Given the description of an element on the screen output the (x, y) to click on. 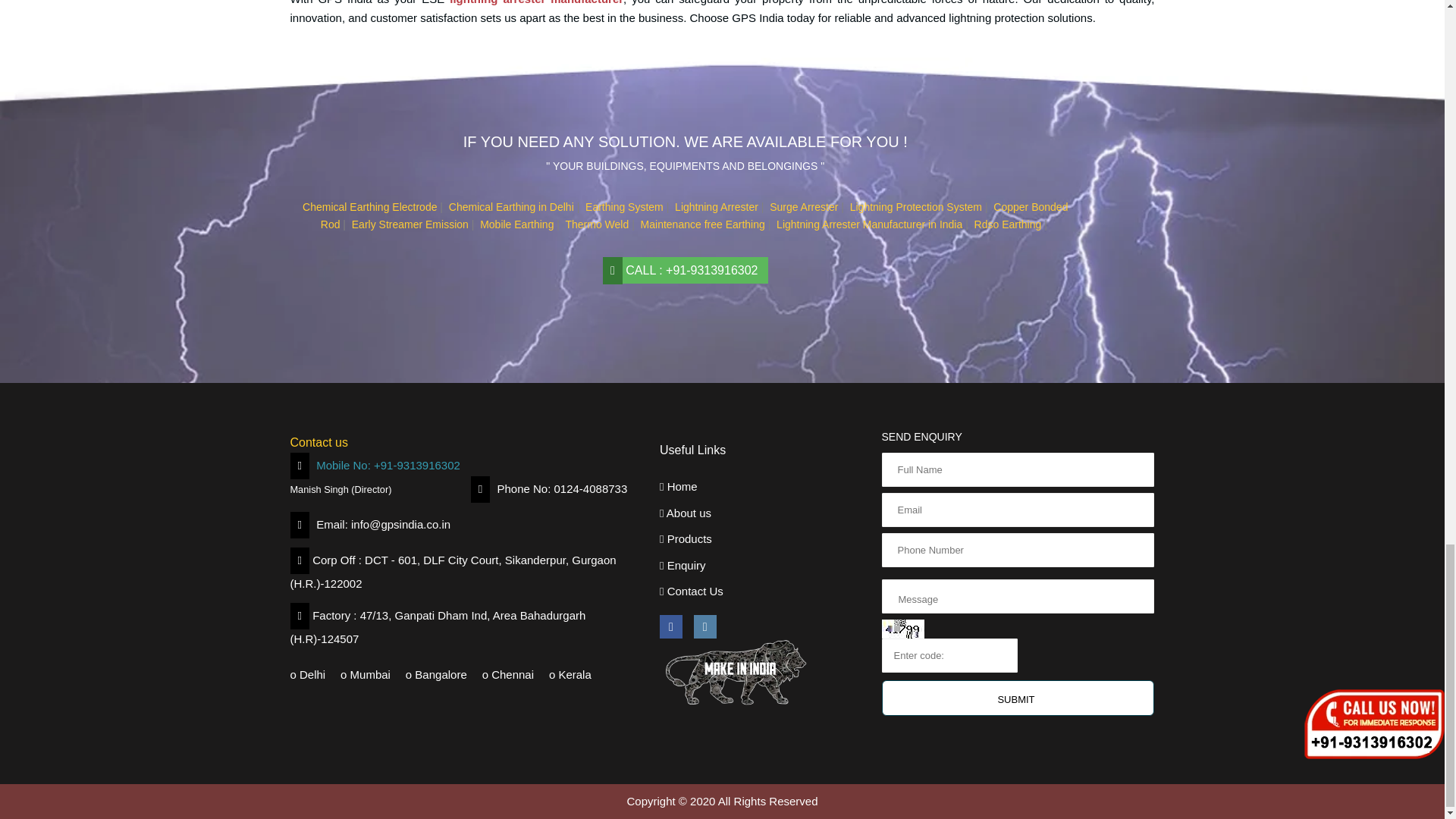
Instagram (705, 626)
Facebook (670, 626)
Submit (1017, 697)
